Given the description of an element on the screen output the (x, y) to click on. 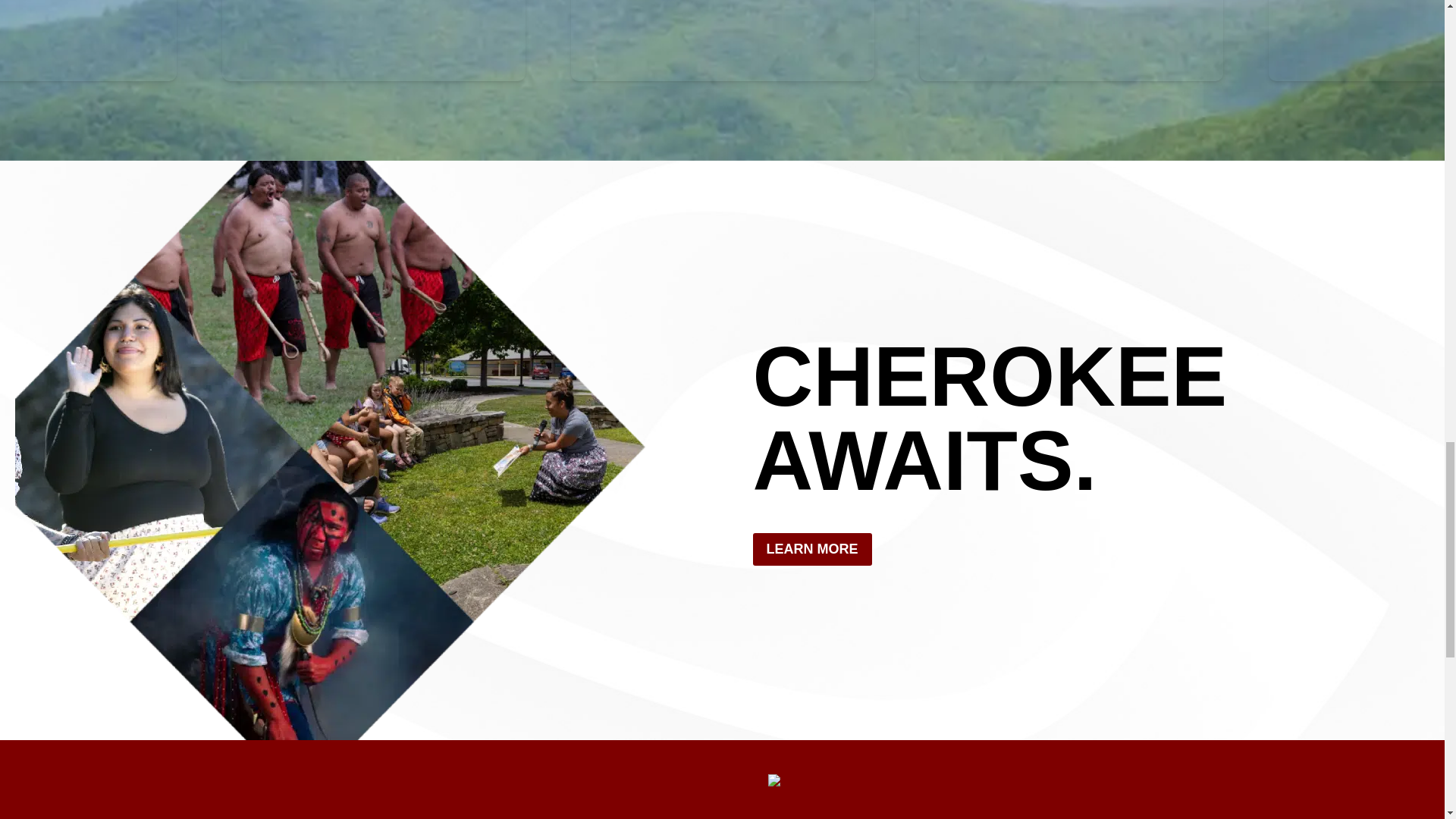
Learn More (1326, 48)
Learn More (628, 48)
Learn More (279, 48)
TICKETS (630, 817)
Learn More (977, 48)
PLAY (266, 817)
STAY (448, 817)
LEARN MORE (811, 549)
